Given the description of an element on the screen output the (x, y) to click on. 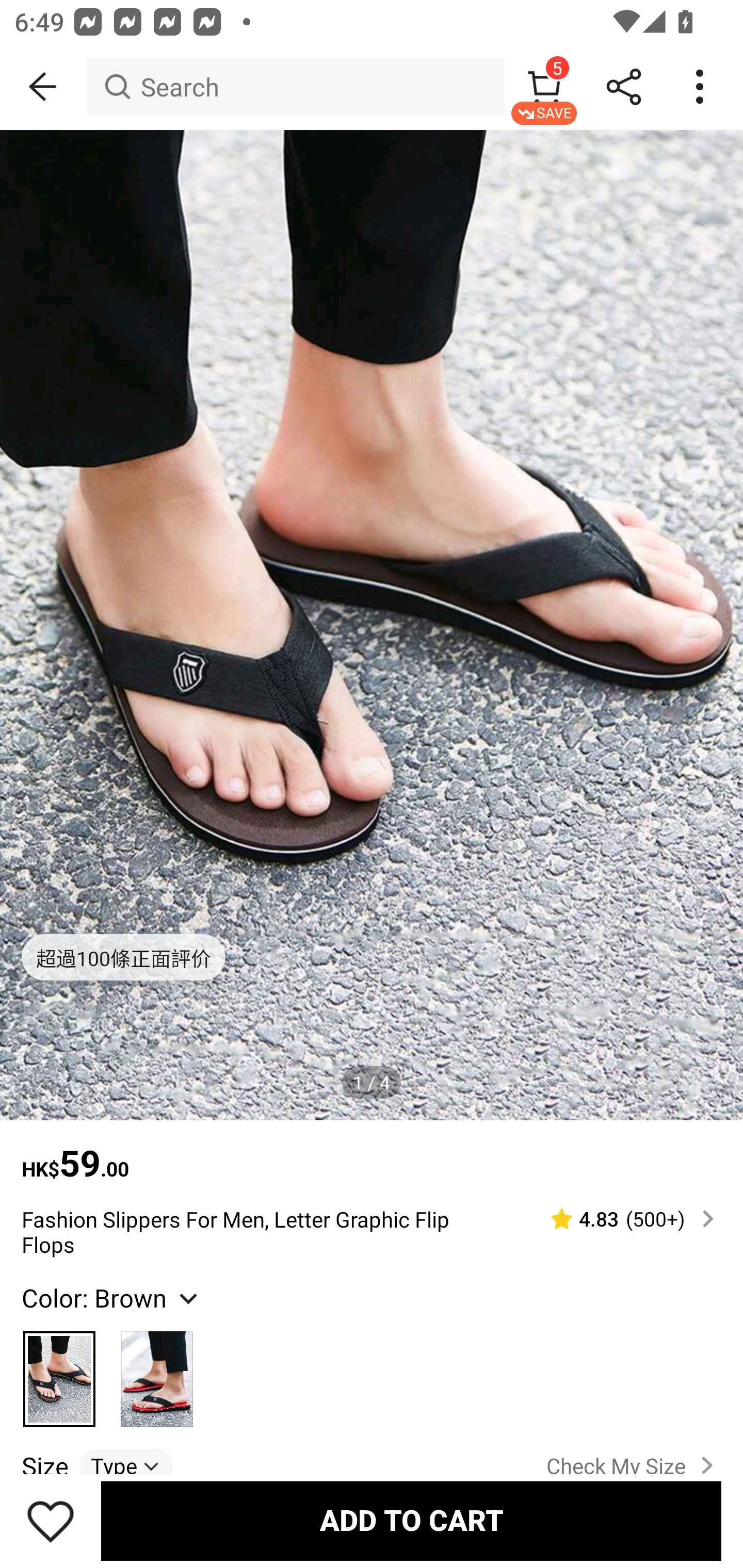
BACK (43, 86)
5 SAVE (543, 87)
Search (295, 87)
1 / 4 (371, 1082)
HK$59.00 (371, 1152)
4.83 (500‎+) (623, 1219)
Color: Brown (111, 1297)
Brown (59, 1369)
Red (156, 1369)
Size (44, 1465)
Type (126, 1465)
Check My Size (633, 1465)
ADD TO CART (411, 1520)
Save (50, 1520)
